Given the description of an element on the screen output the (x, y) to click on. 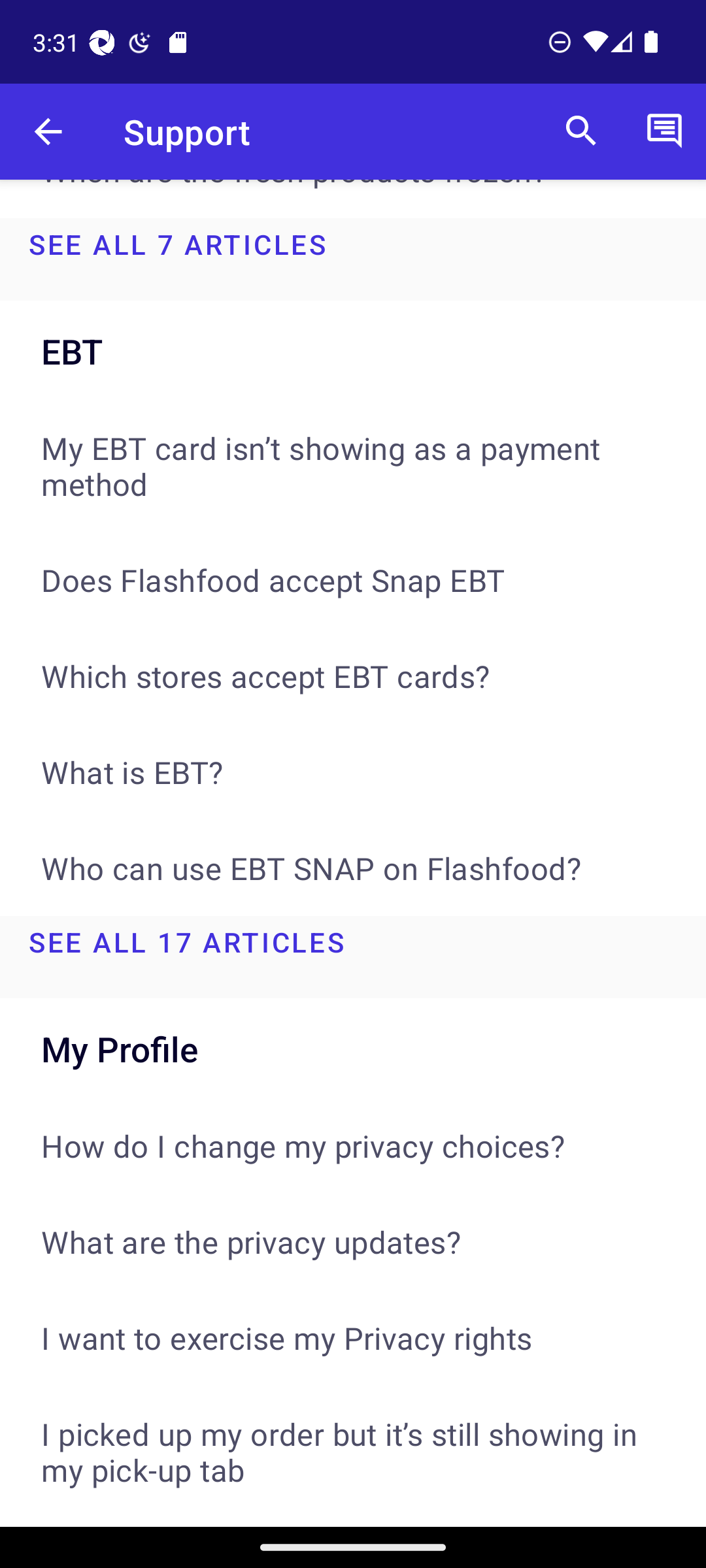
Navigate up (48, 131)
Search (581, 131)
Conversations (664, 131)
SEE ALL 7 ARTICLES (353, 259)
My EBT card isn’t showing as a payment method (353, 465)
Does Flashfood accept Snap EBT  (353, 579)
Which stores accept EBT cards? (353, 675)
What is EBT? (353, 772)
Who can use EBT SNAP on Flashfood? (353, 867)
SEE ALL 17 ARTICLES (353, 956)
How do I change my privacy choices? (353, 1145)
What are the privacy updates? (353, 1240)
I want to exercise my Privacy rights (353, 1337)
